Given the description of an element on the screen output the (x, y) to click on. 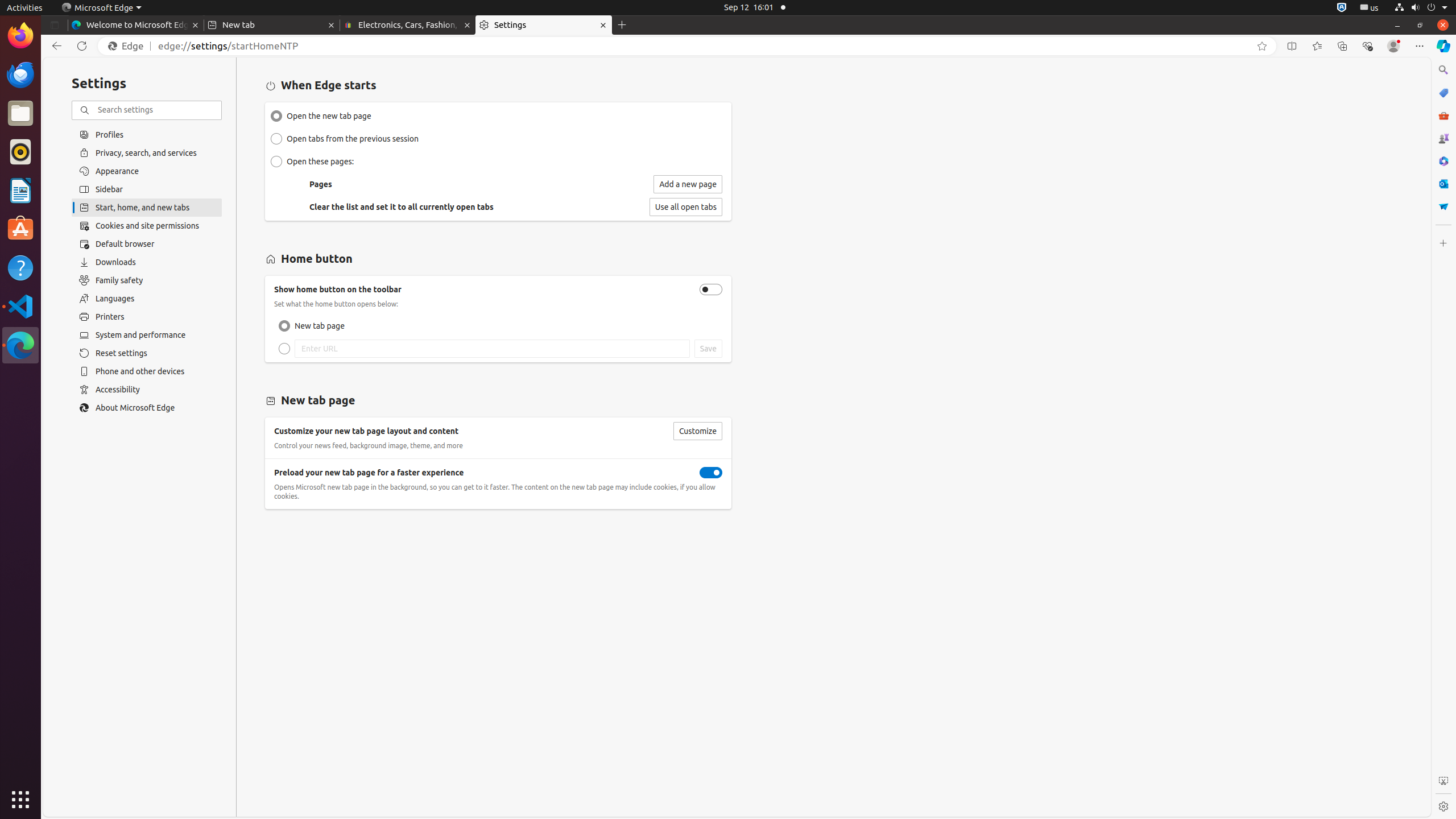
Use all open tabs as the list of pages to open Element type: push-button (685, 206)
Open these pages: Element type: radio-button (276, 161)
:1.21/StatusNotifierItem Element type: menu (1369, 7)
Save Element type: push-button (707, 348)
Outlook Element type: push-button (1443, 183)
